Given the description of an element on the screen output the (x, y) to click on. 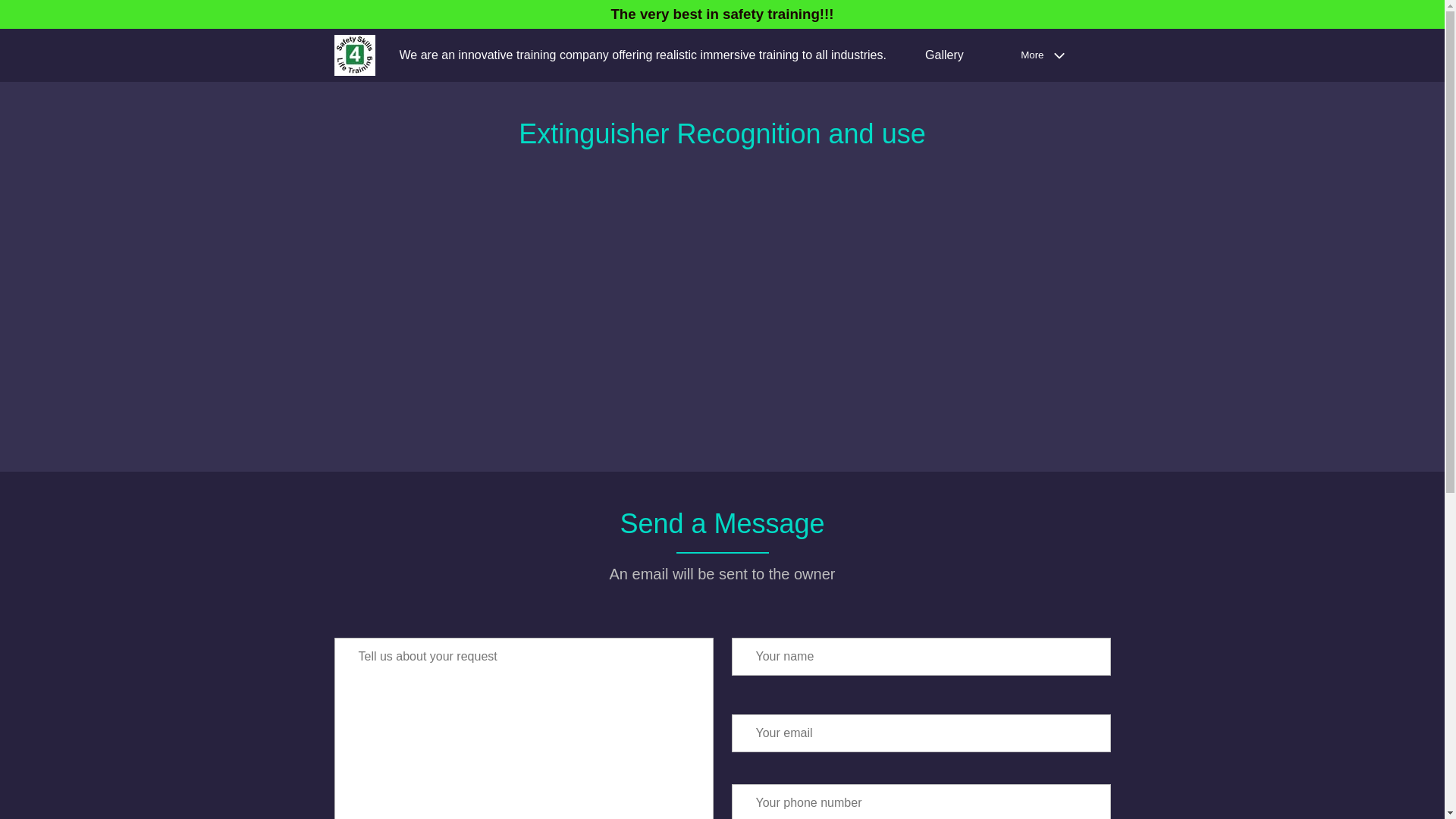
More (1047, 55)
Gallery (943, 55)
